Given the description of an element on the screen output the (x, y) to click on. 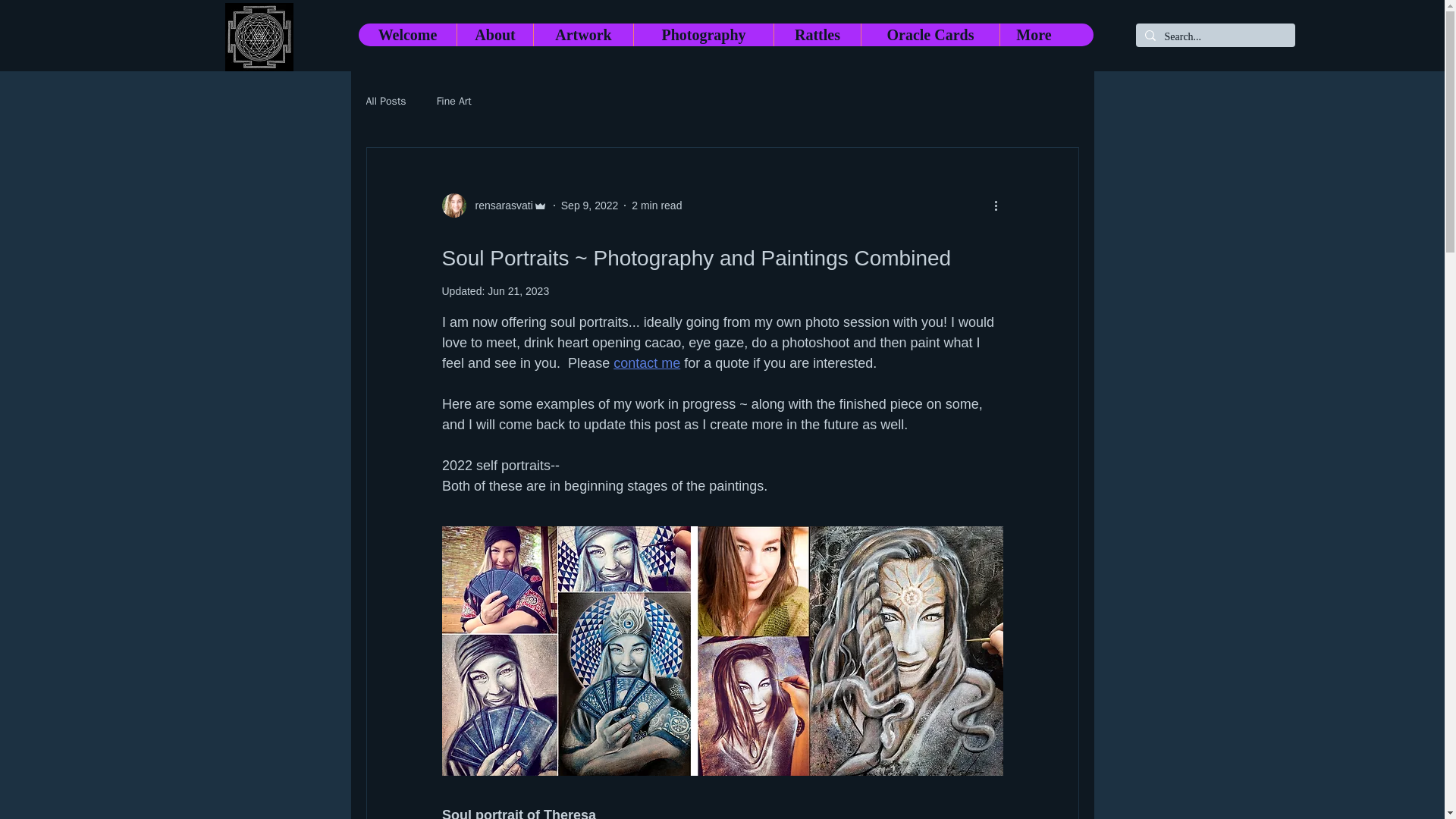
About (494, 34)
2 min read (656, 204)
contact me (645, 363)
Rattles (816, 34)
Sep 9, 2022 (589, 204)
rensarasvati (494, 205)
All Posts (385, 101)
Jun 21, 2023 (517, 291)
Photography (703, 34)
Oracle Cards (929, 34)
